Given the description of an element on the screen output the (x, y) to click on. 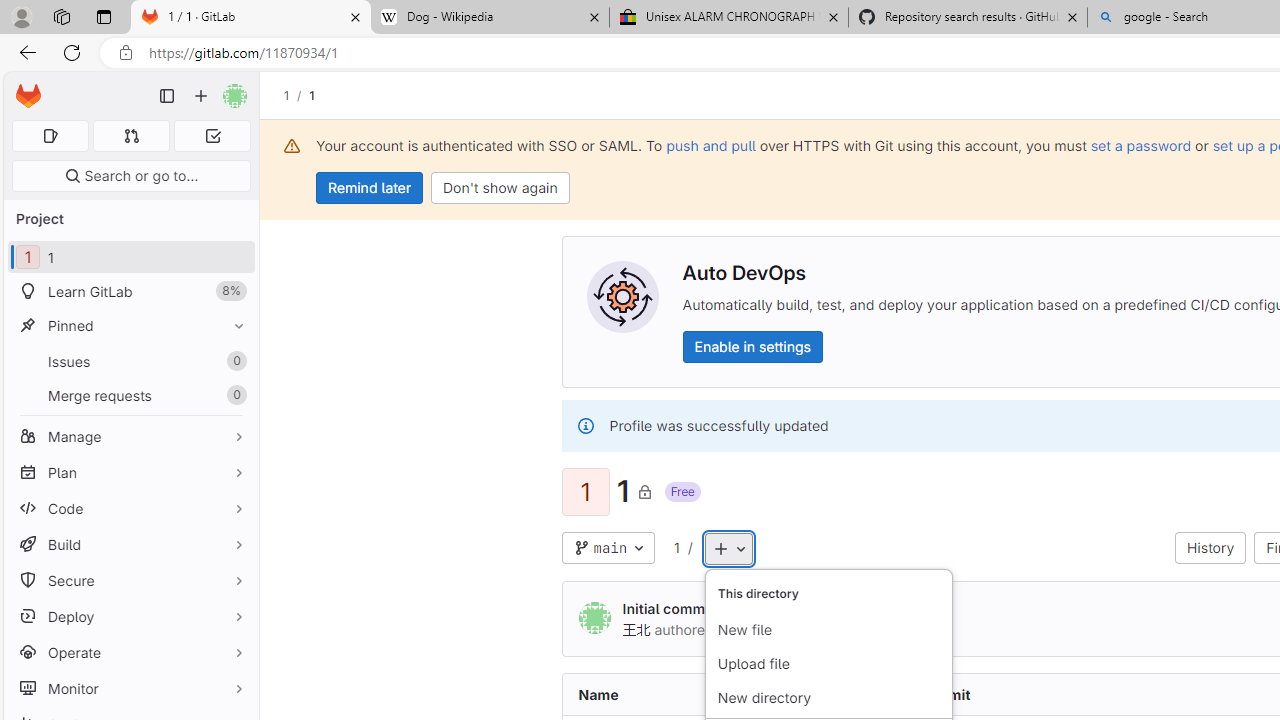
To-Do list 0 (212, 136)
Add to tree (728, 548)
Issues0 (130, 361)
New file (828, 630)
1/ (296, 95)
Don't show again (500, 187)
Code (130, 507)
Dog - Wikipedia (490, 17)
Class: s16 gl-alert-icon gl-alert-icon-no-title (585, 426)
main (607, 547)
Upload file (828, 664)
New directory (828, 697)
Manage (130, 435)
